Given the description of an element on the screen output the (x, y) to click on. 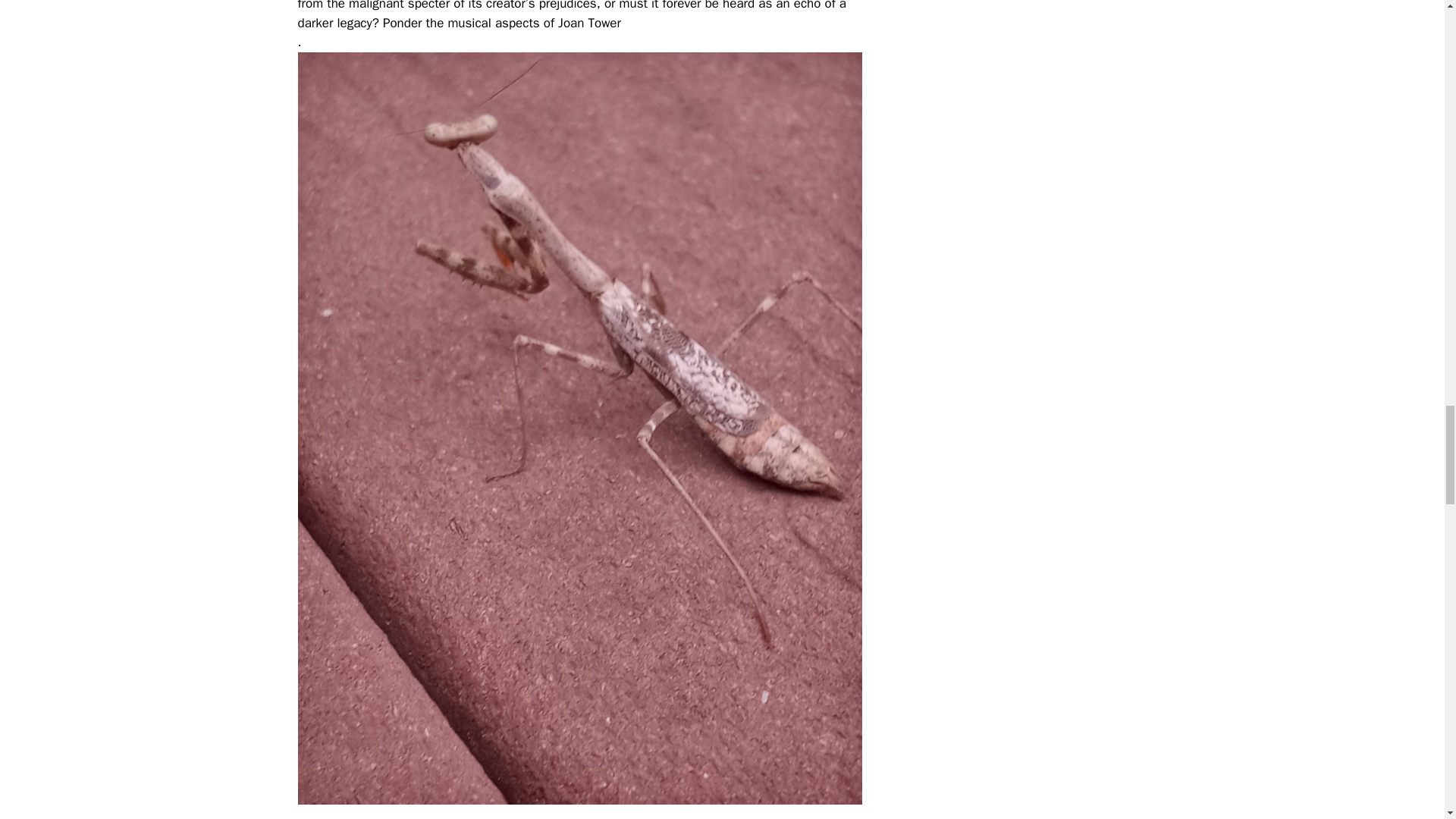
Joan Tower (589, 23)
